Given the description of an element on the screen output the (x, y) to click on. 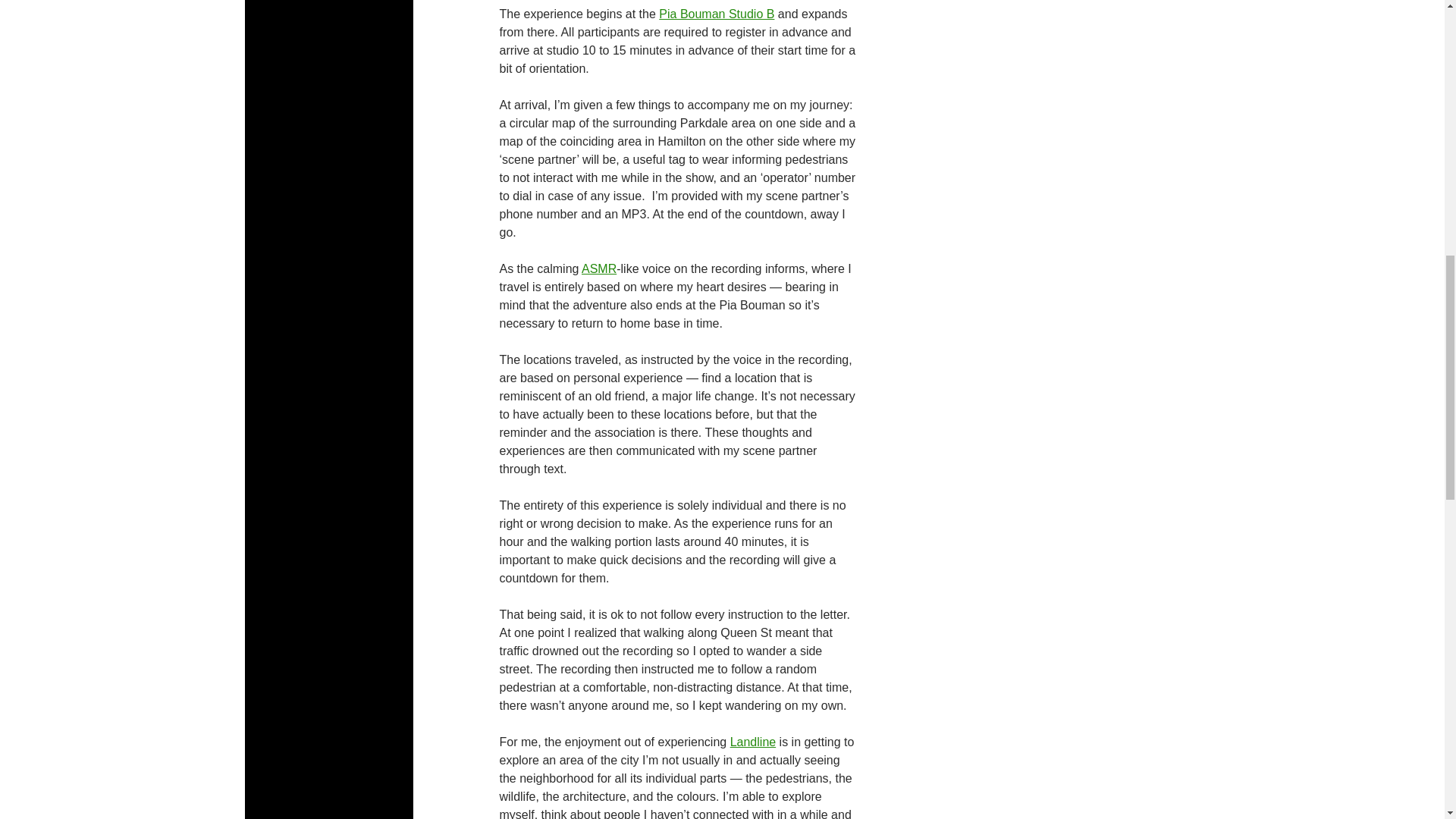
Pia Bouman Studio B (716, 13)
Landline (753, 741)
ASMR (597, 268)
